Given the description of an element on the screen output the (x, y) to click on. 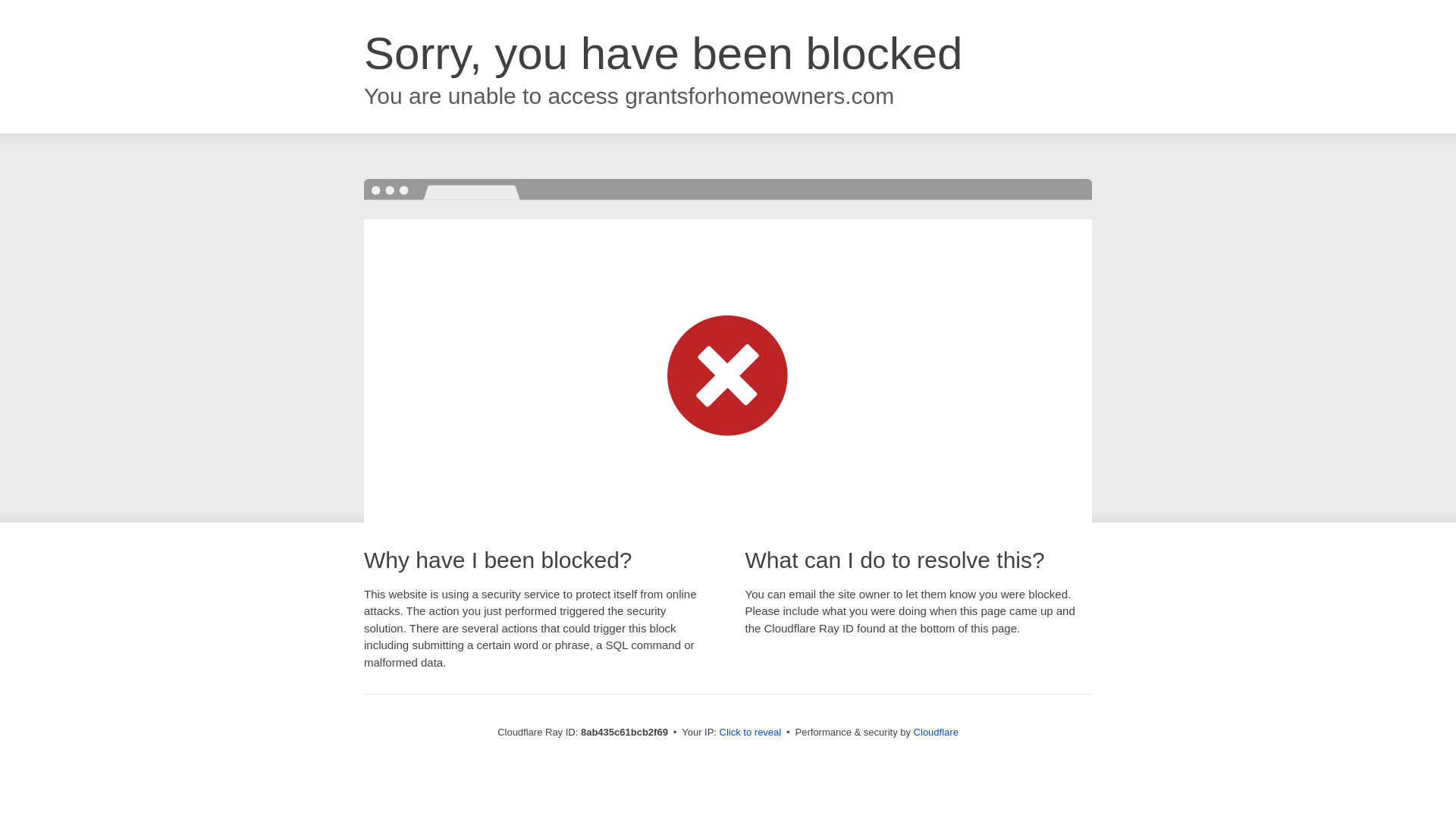
Cloudflare (936, 731)
Click to reveal (750, 732)
